Given the description of an element on the screen output the (x, y) to click on. 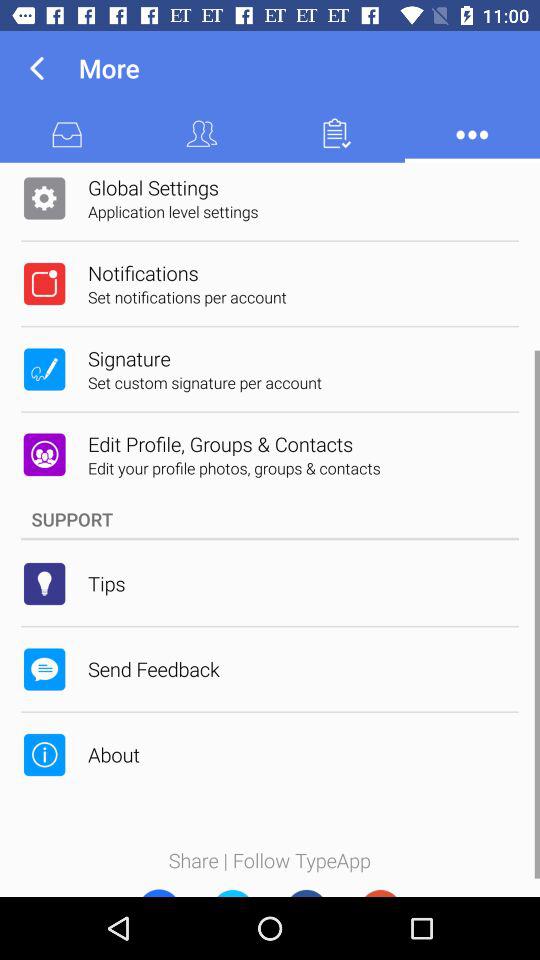
click the set custom signature icon (205, 382)
